Given the description of an element on the screen output the (x, y) to click on. 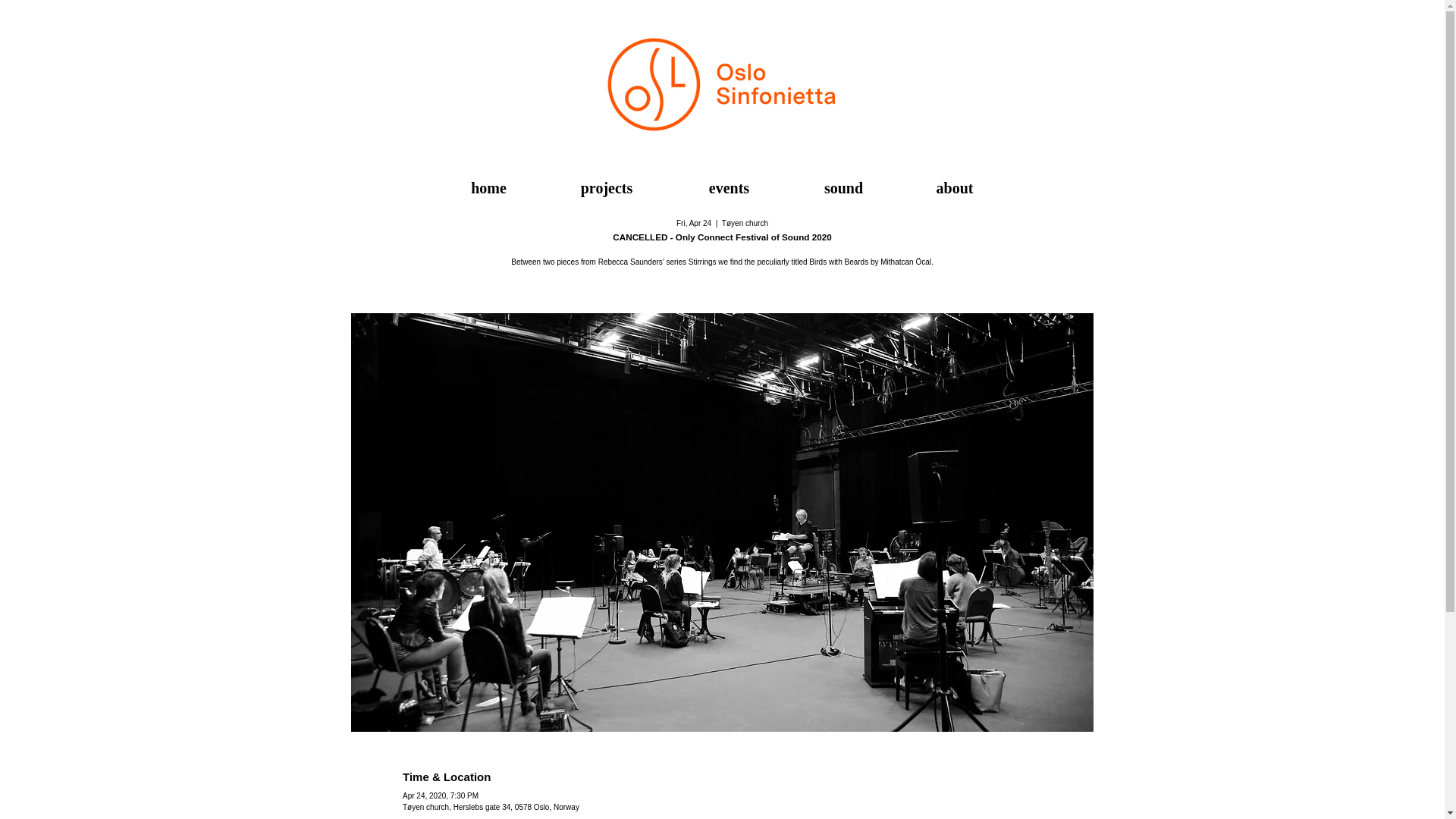
events (728, 187)
projects (607, 187)
sound (843, 187)
home (489, 187)
about (954, 187)
